Given the description of an element on the screen output the (x, y) to click on. 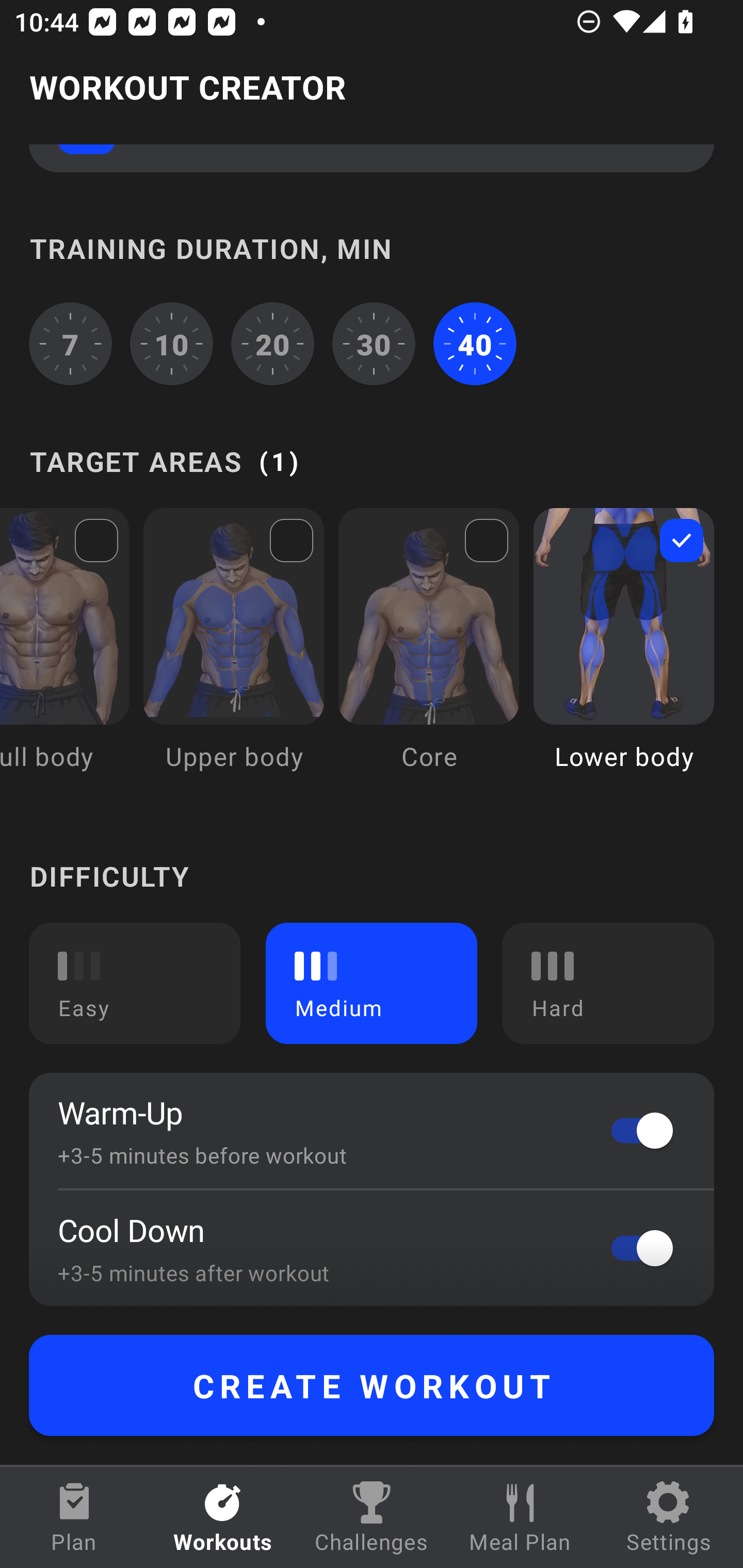
7 (70, 344)
10 (171, 344)
20 (272, 344)
30 (373, 344)
40 (474, 344)
Full body (64, 653)
Upper body (233, 653)
Core (428, 653)
Easy (134, 982)
Hard (608, 982)
CREATE WORKOUT (371, 1385)
 Plan  (74, 1517)
 Challenges  (371, 1517)
 Meal Plan  (519, 1517)
 Settings  (668, 1517)
